Given the description of an element on the screen output the (x, y) to click on. 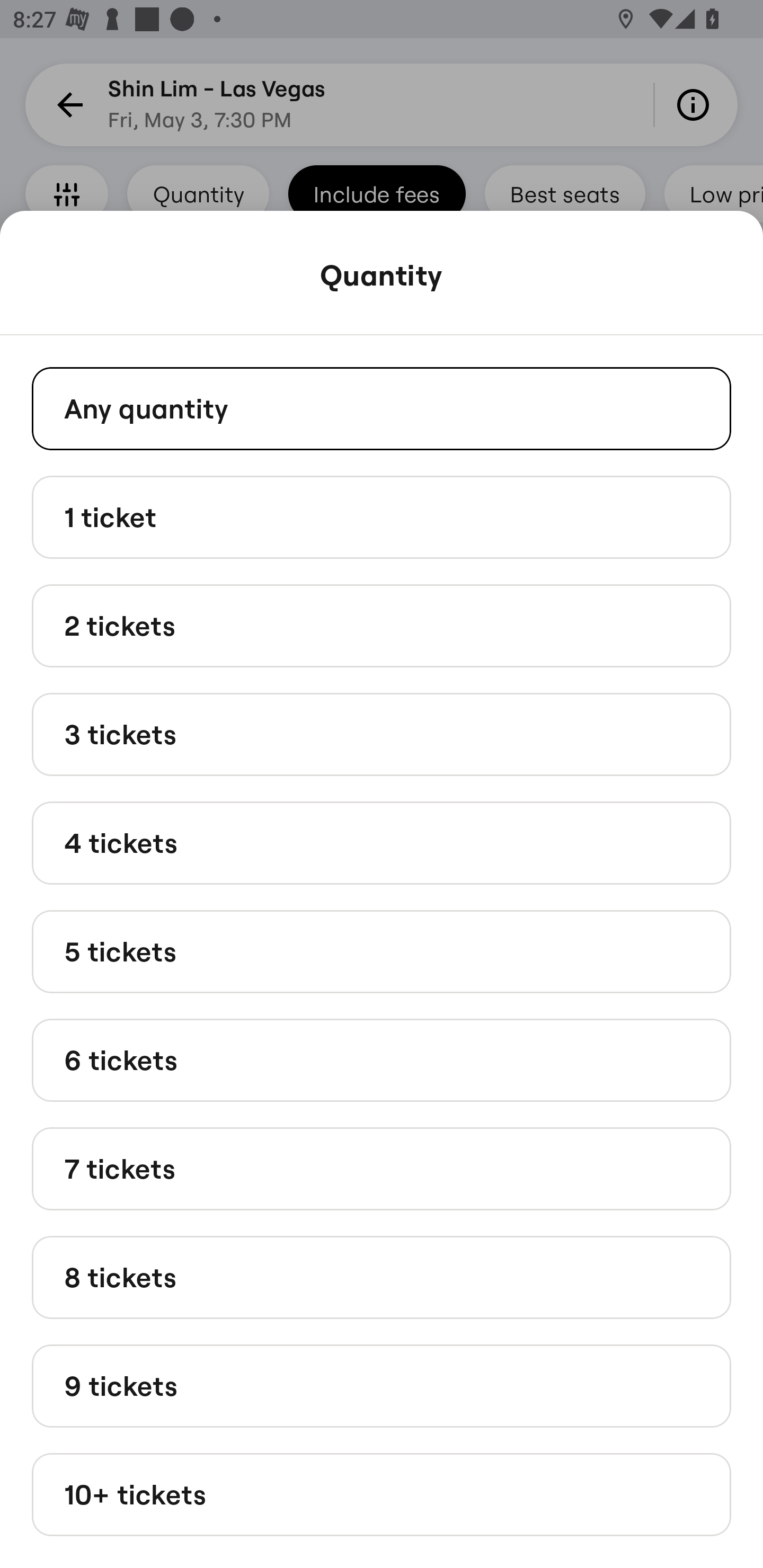
Any quantity (381, 408)
1 ticket (381, 516)
2 tickets (381, 625)
3 tickets (381, 734)
4 tickets (381, 842)
5 tickets (381, 950)
6 tickets (381, 1060)
7 tickets (381, 1168)
8 tickets (381, 1276)
9 tickets (381, 1384)
10+ tickets (381, 1494)
